Given the description of an element on the screen output the (x, y) to click on. 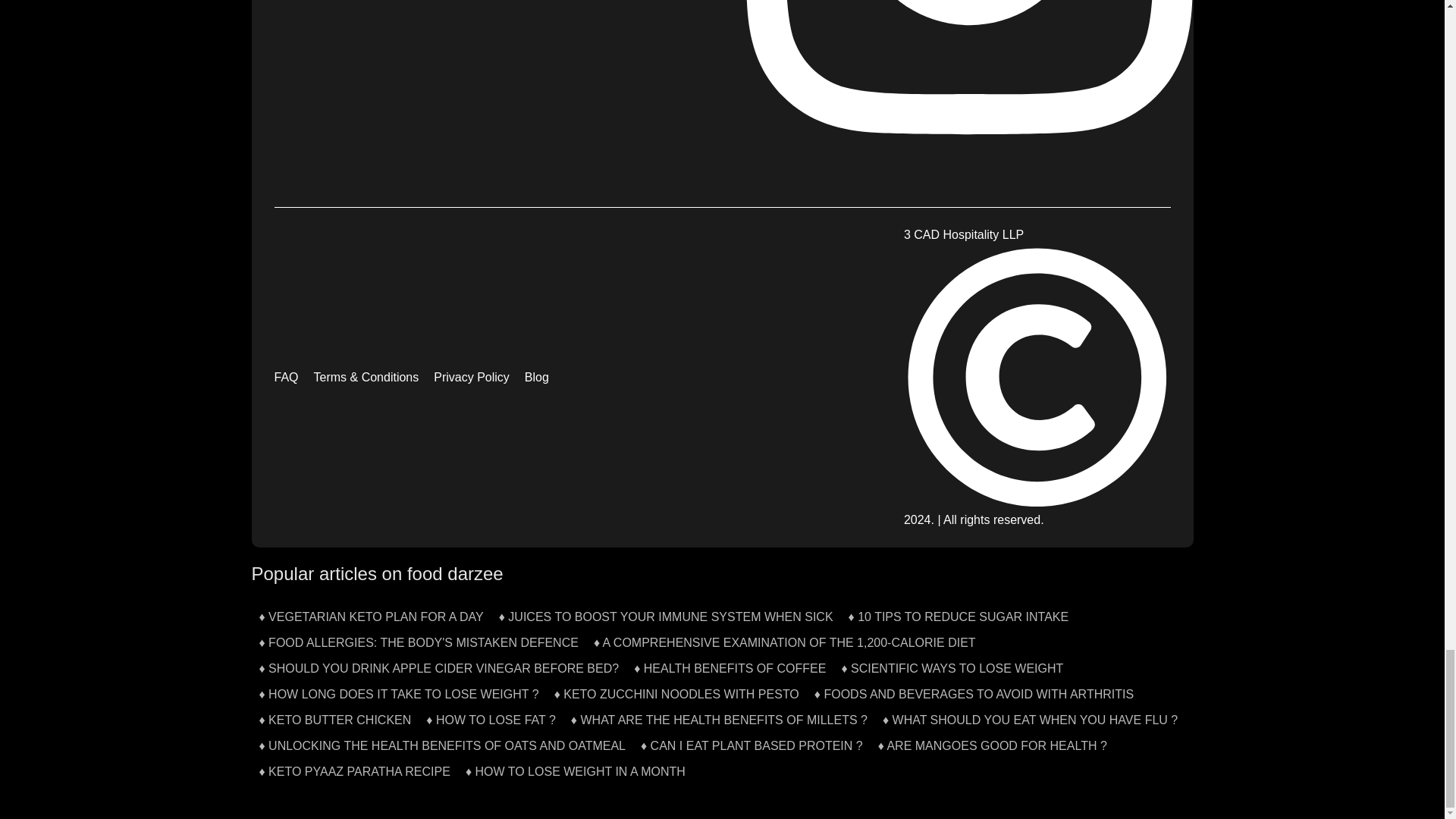
Privacy Policy (471, 377)
Blog (536, 377)
FAQ (286, 377)
Food Darzee Instagram Page (968, 90)
